Given the description of an element on the screen output the (x, y) to click on. 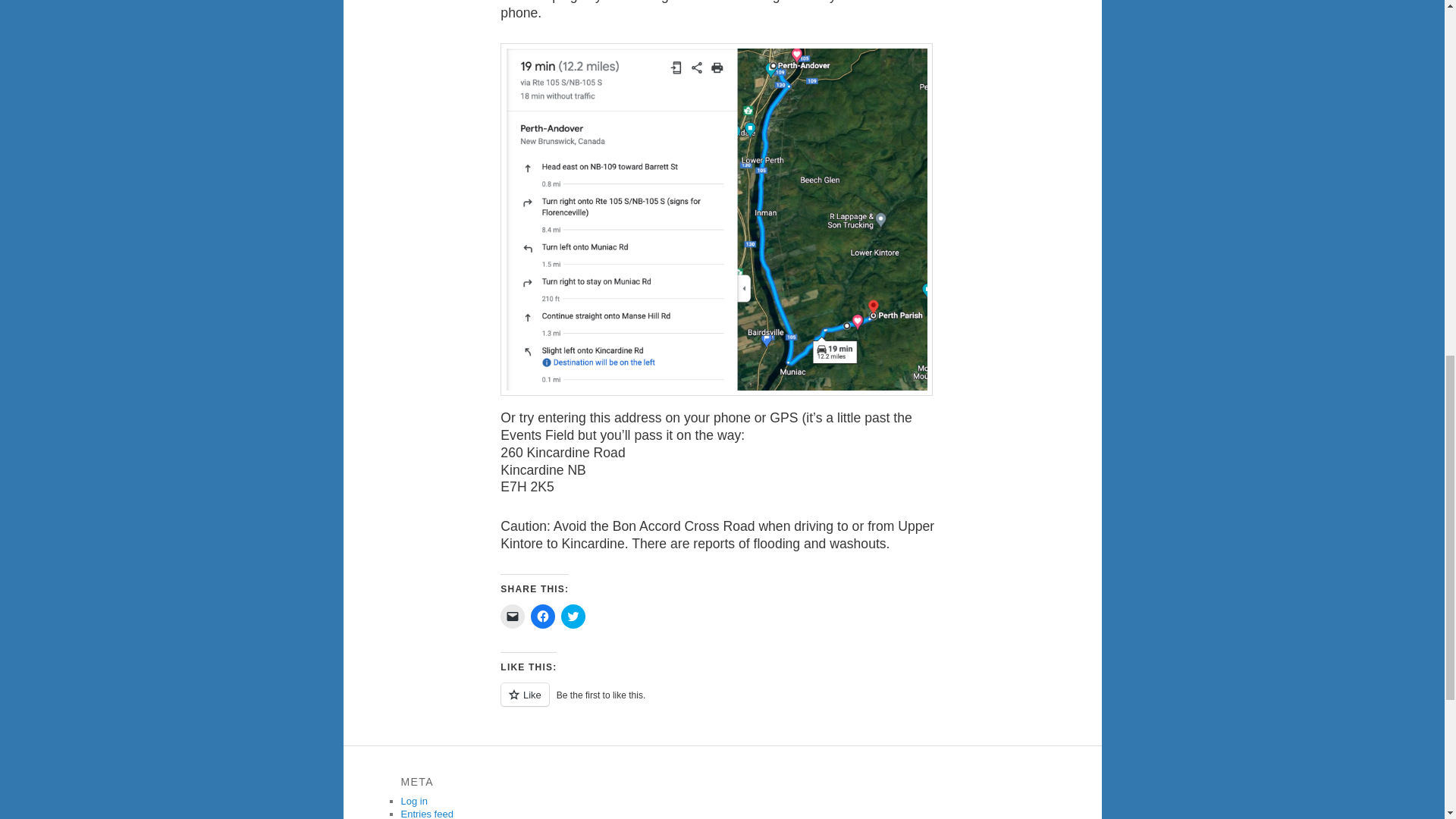
Like or Reblog (721, 702)
Click to share on Facebook (542, 616)
Click to email a link to a friend (512, 616)
Click to share on Twitter (572, 616)
